Given the description of an element on the screen output the (x, y) to click on. 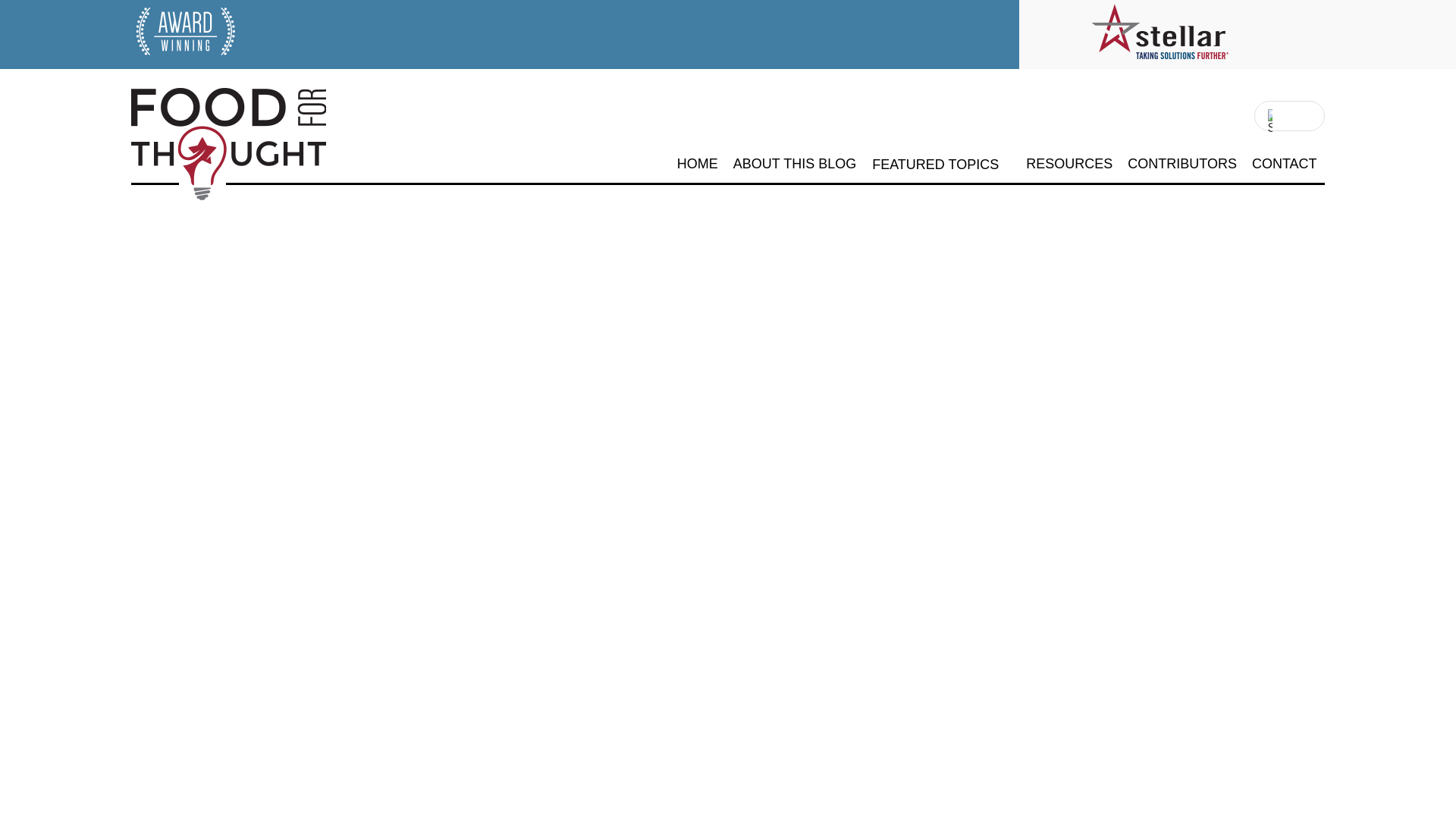
CONTACT (1284, 163)
ABOUT THIS BLOG (794, 163)
CONTRIBUTORS (1181, 163)
FEATURED TOPICS (935, 164)
Stellar Food for Thought (200, 205)
RESOURCES (1069, 163)
HOME (697, 163)
